Given the description of an element on the screen output the (x, y) to click on. 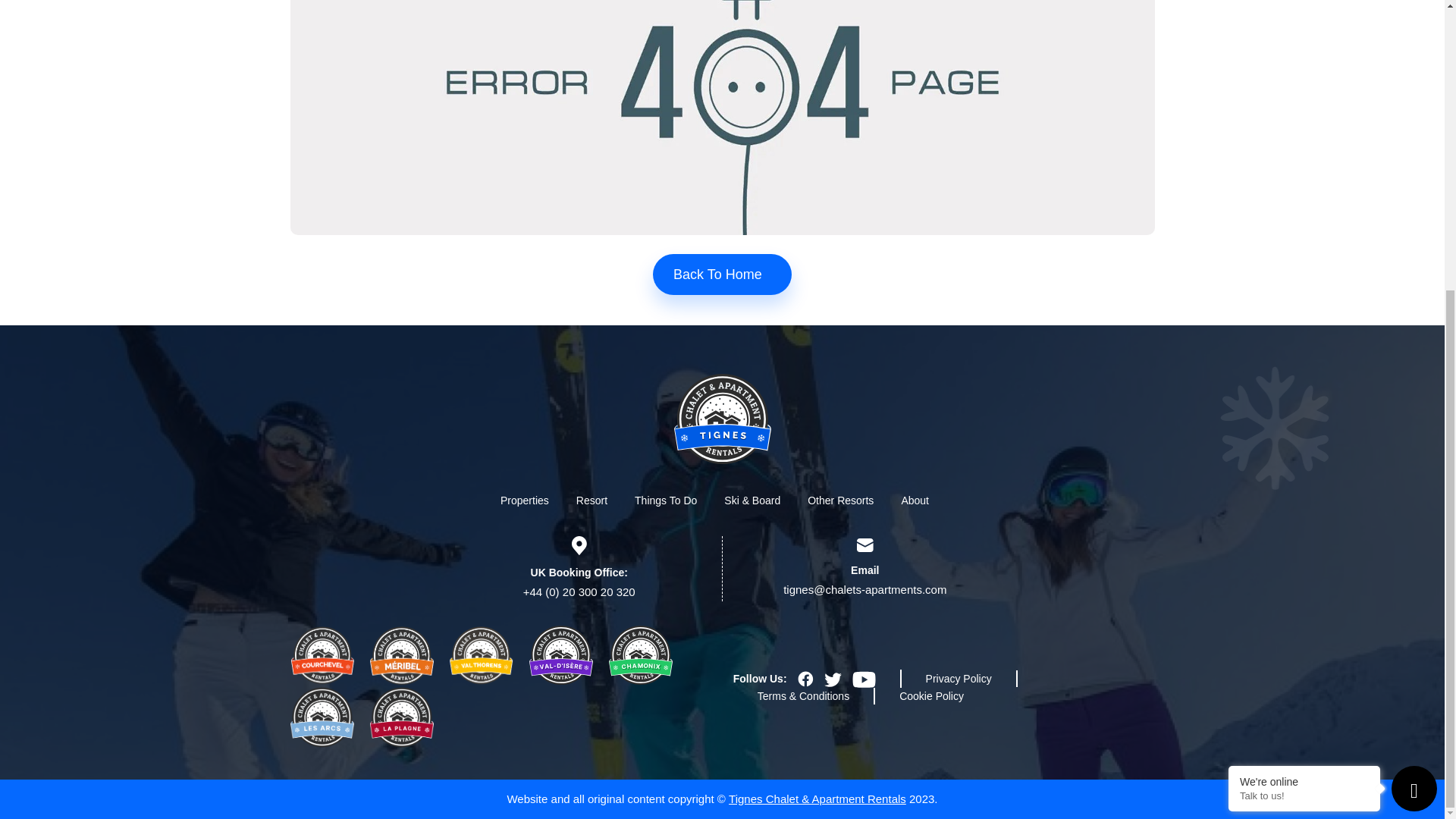
We're online (1304, 340)
Talk to us! (1304, 354)
